Given the description of an element on the screen output the (x, y) to click on. 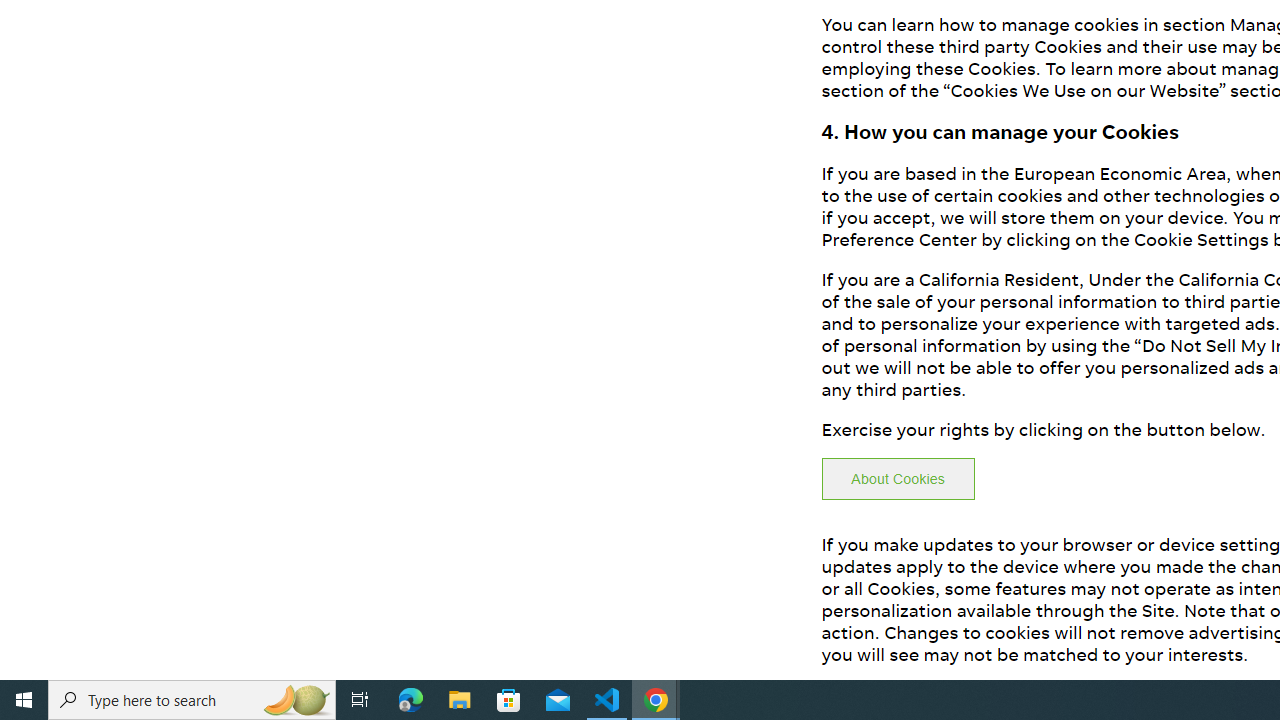
About Cookies (897, 479)
